Given the description of an element on the screen output the (x, y) to click on. 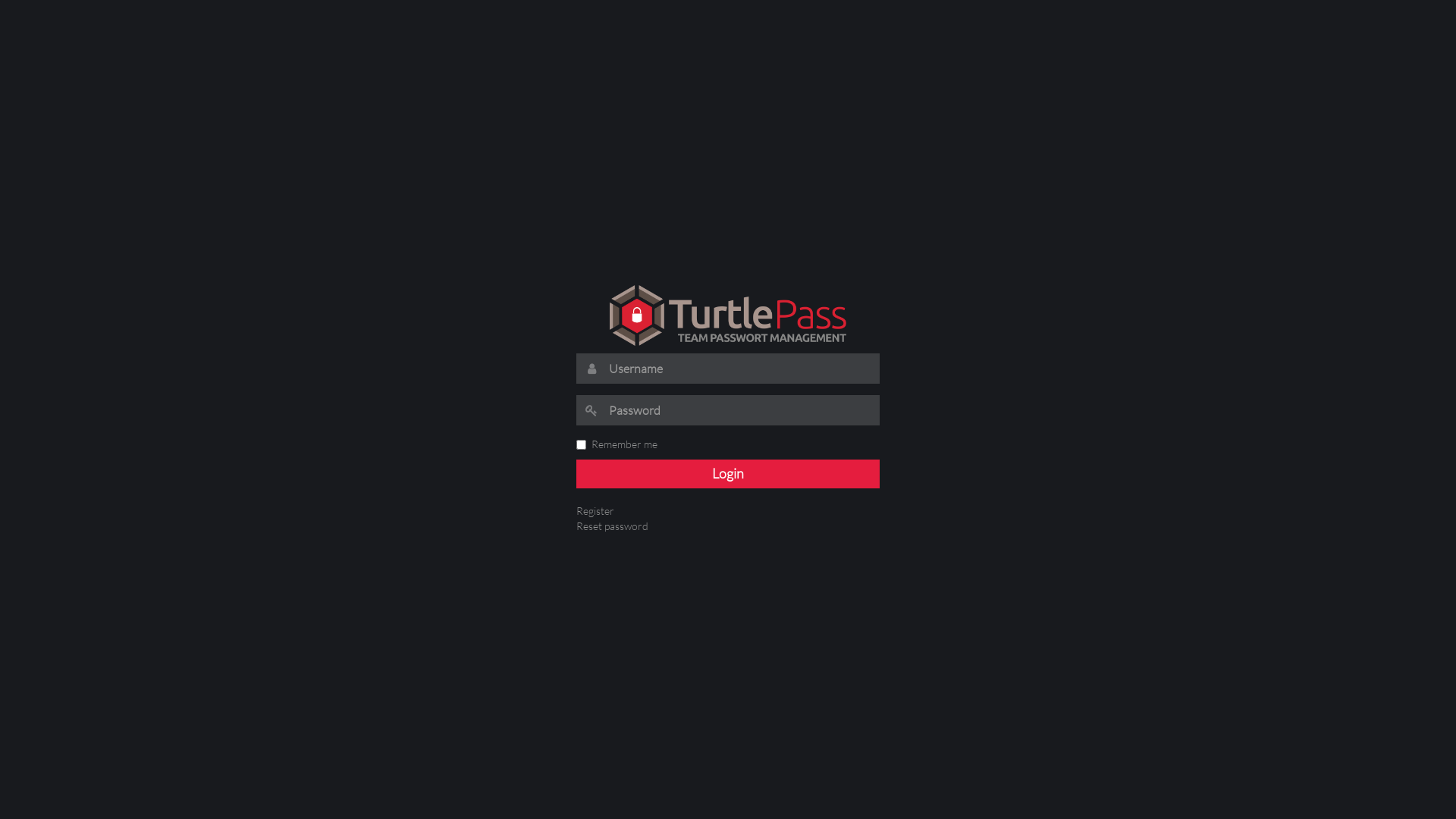
Register Element type: text (595, 510)
Please enter your password Element type: hover (739, 410)
Login Element type: text (727, 473)
Reset password Element type: text (612, 525)
Please enter you username Element type: hover (739, 368)
